Given the description of an element on the screen output the (x, y) to click on. 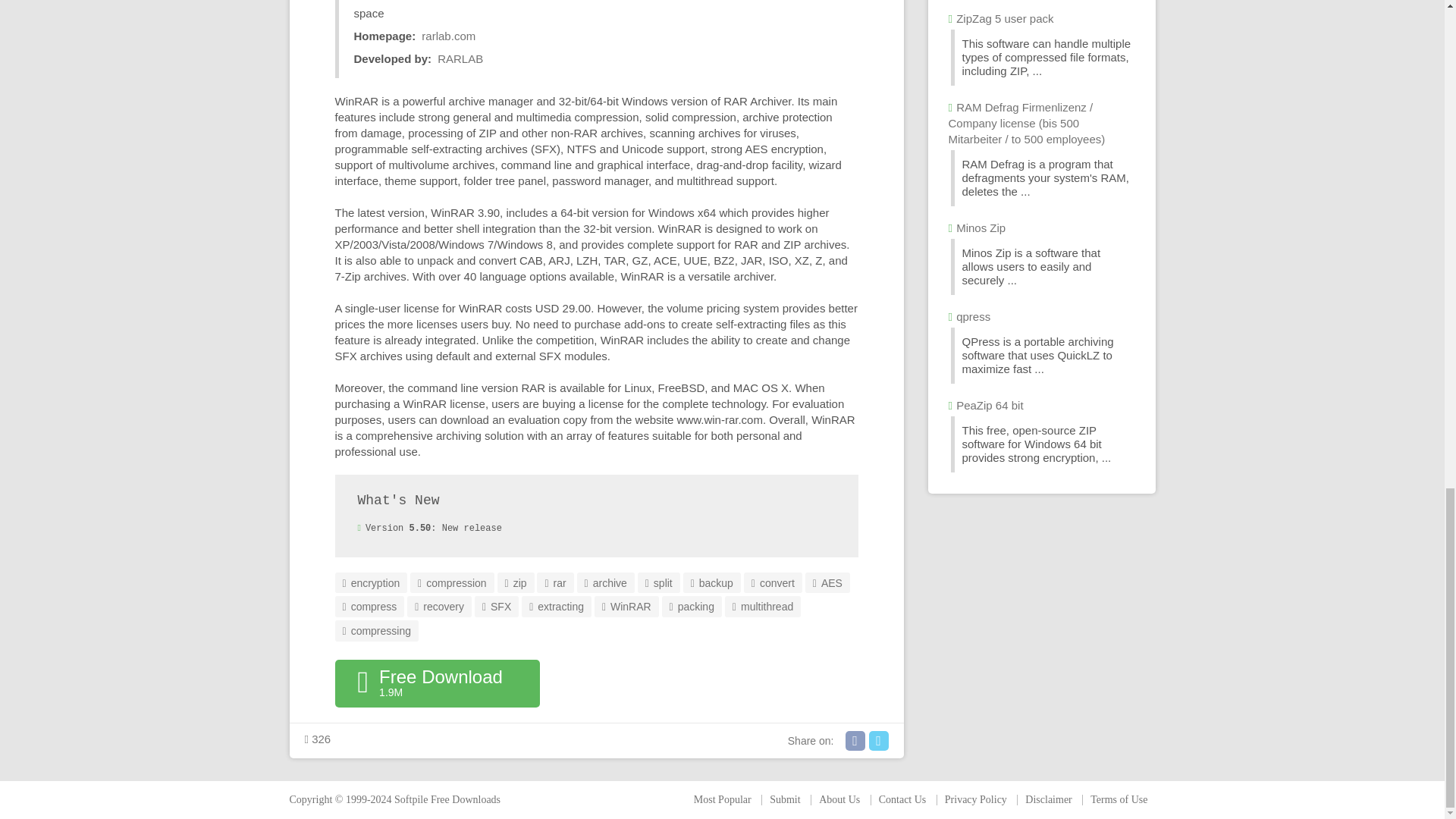
Download WinRAR 5.50 (437, 683)
